Given the description of an element on the screen output the (x, y) to click on. 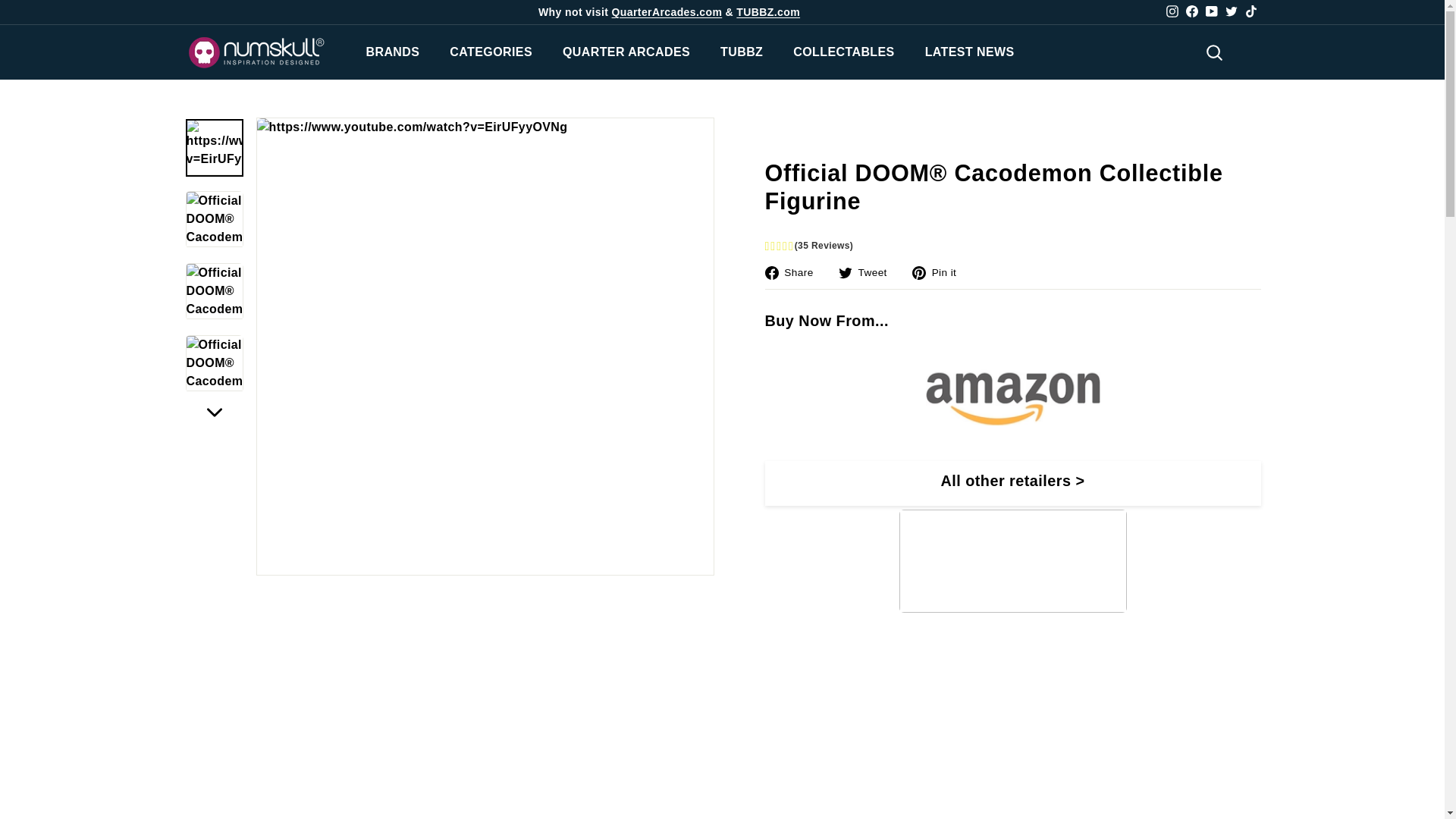
Share on Facebook (794, 271)
4.91 Stars - 35 Reviews (1012, 246)
TUBBZ.com (767, 11)
BRANDS (391, 51)
Tweet on Twitter (868, 271)
QuarterArcades.com (666, 11)
Pin on Pinterest (940, 271)
